Given the description of an element on the screen output the (x, y) to click on. 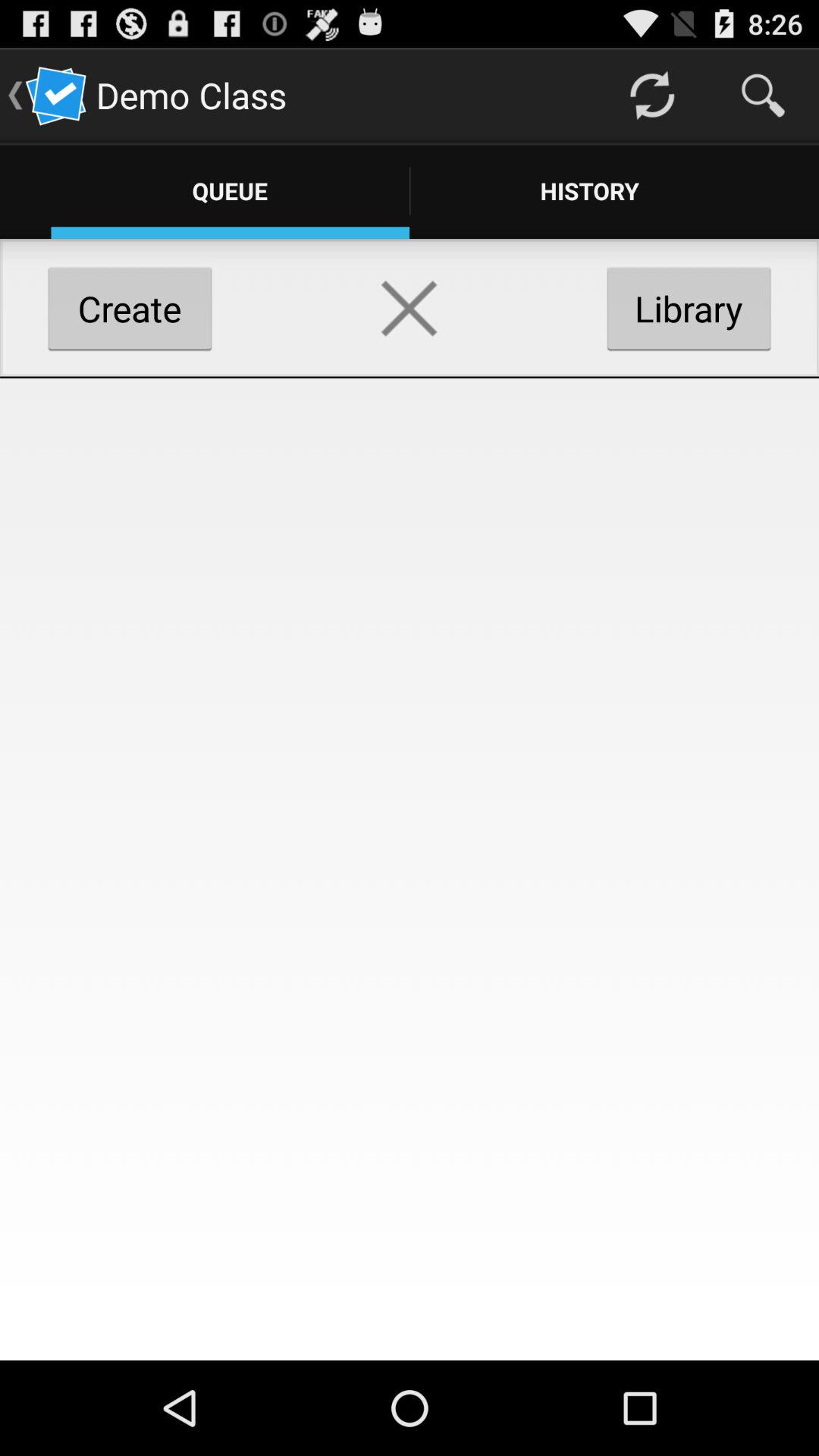
delete (408, 308)
